Given the description of an element on the screen output the (x, y) to click on. 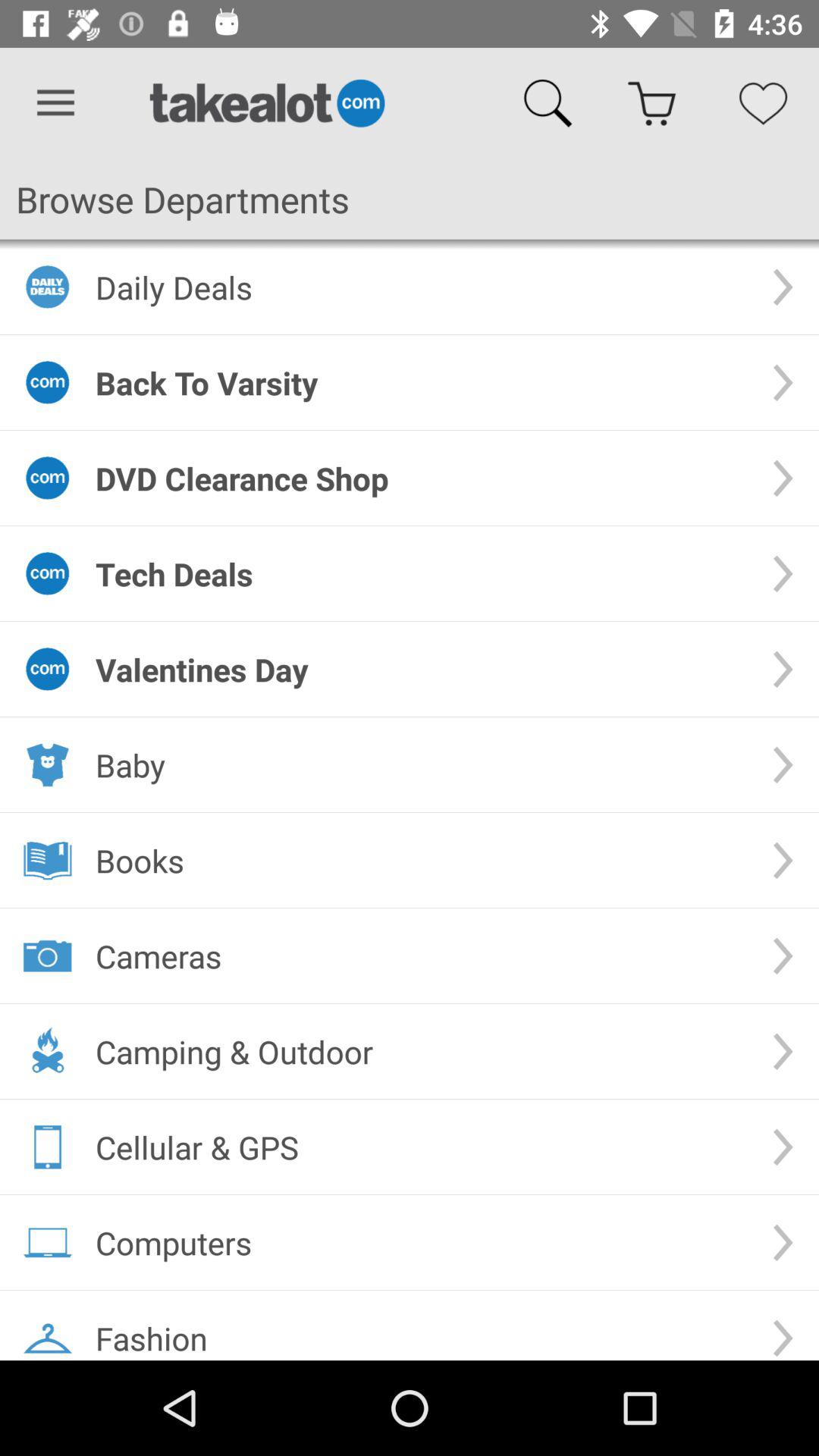
turn off the item below the cameras item (421, 1051)
